Given the description of an element on the screen output the (x, y) to click on. 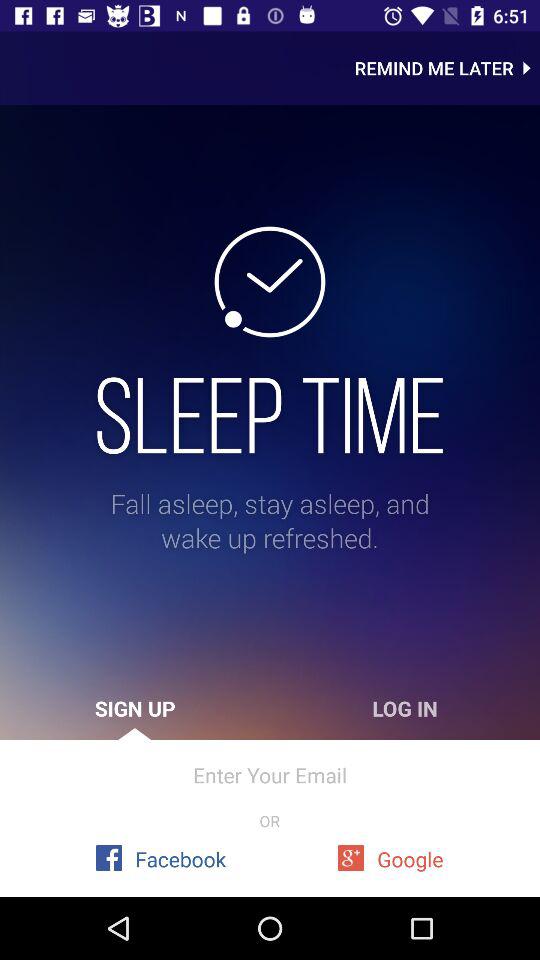
launch the item next to the sign up (405, 707)
